Given the description of an element on the screen output the (x, y) to click on. 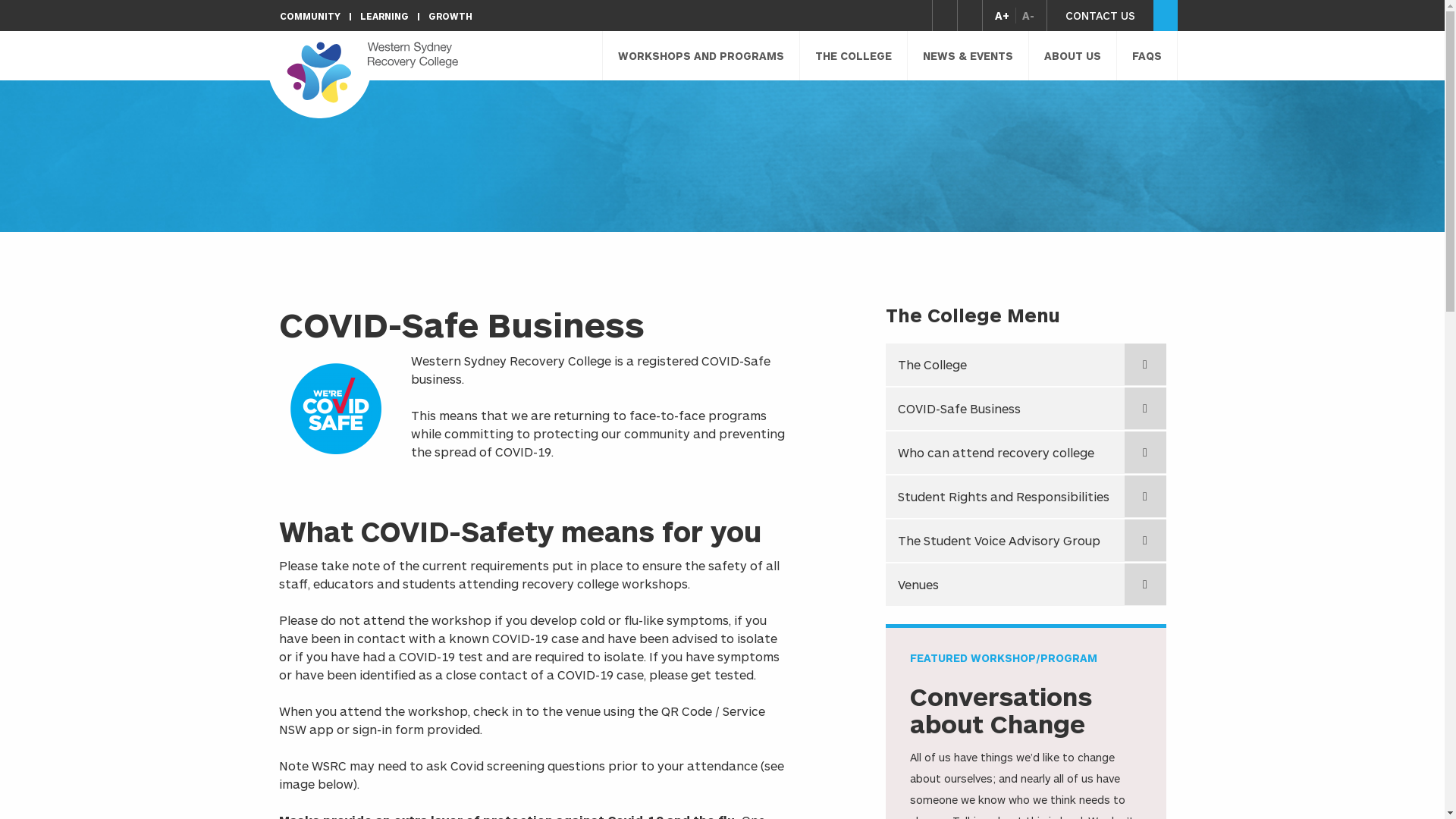
A- Element type: text (1023, 15)
WORKSHOPS AND PROGRAMS Element type: text (700, 55)
The College Element type: text (1025, 364)
A+ Element type: text (1004, 15)
COVID-Safe Business Element type: text (1025, 408)
The Student Voice Advisory Group Element type: text (1025, 540)
Conversations about Change Element type: text (1001, 709)
ABOUT US Element type: text (1072, 55)
THE COLLEGE Element type: text (852, 55)
Who can attend recovery college Element type: text (1025, 452)
NEWS & EVENTS Element type: text (967, 55)
CONTACT US Element type: text (1099, 15)
Student Rights and Responsibilities Element type: text (1025, 496)
FAQS Element type: text (1146, 55)
Venues Element type: text (1025, 584)
